Given the description of an element on the screen output the (x, y) to click on. 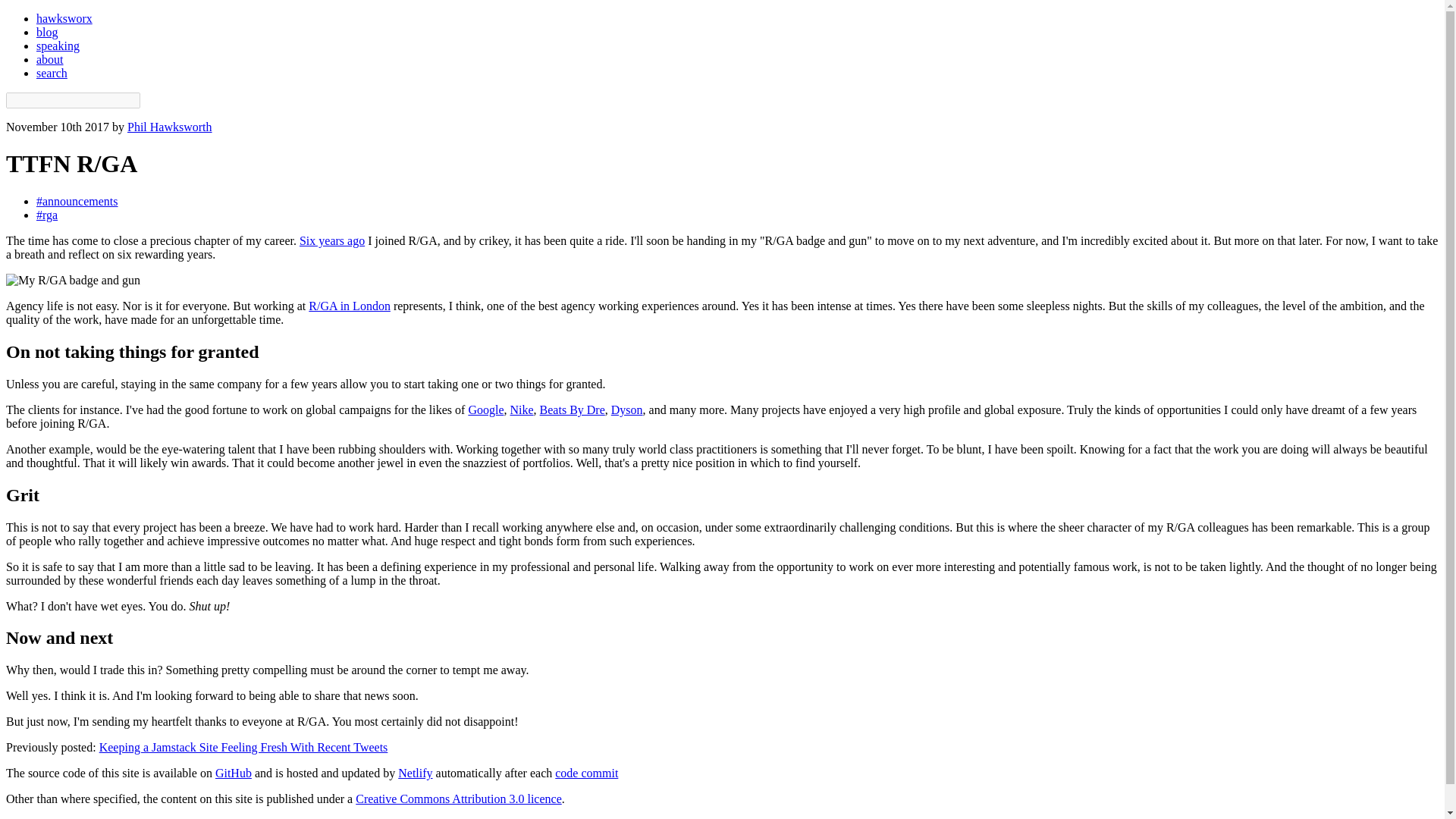
Netlify (414, 772)
Nike (520, 409)
Dyson (627, 409)
Google (485, 409)
hawksworx (64, 18)
GitHub (233, 772)
code commit (585, 772)
Six years ago (332, 240)
Keeping a Jamstack Site Feeling Fresh With Recent Tweets (243, 747)
about (50, 59)
